Given the description of an element on the screen output the (x, y) to click on. 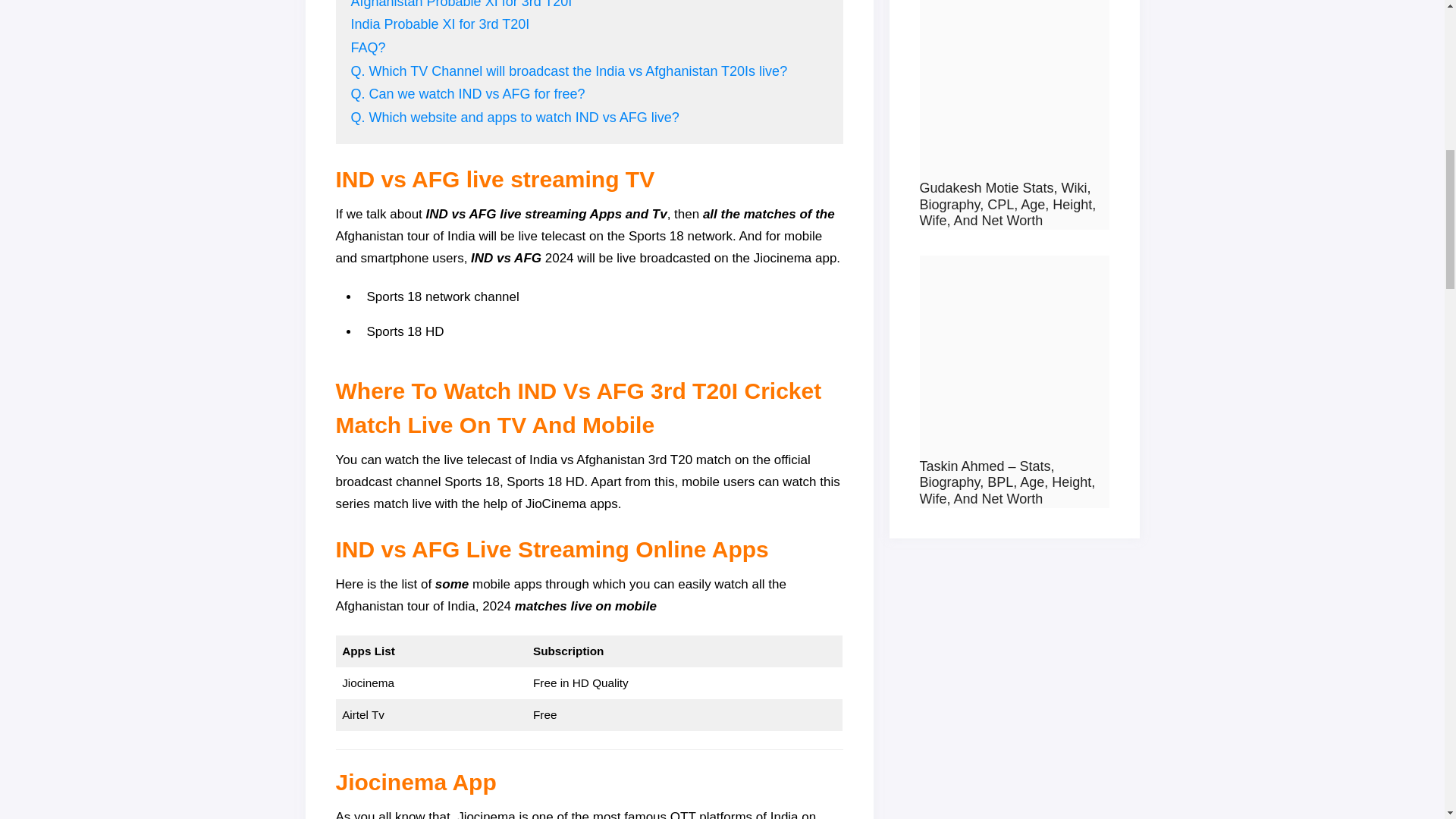
Afghanistan Probable XI for 3rd T20I (461, 4)
India Probable XI for 3rd T20I (439, 23)
Scroll back to top (1406, 689)
